Given the description of an element on the screen output the (x, y) to click on. 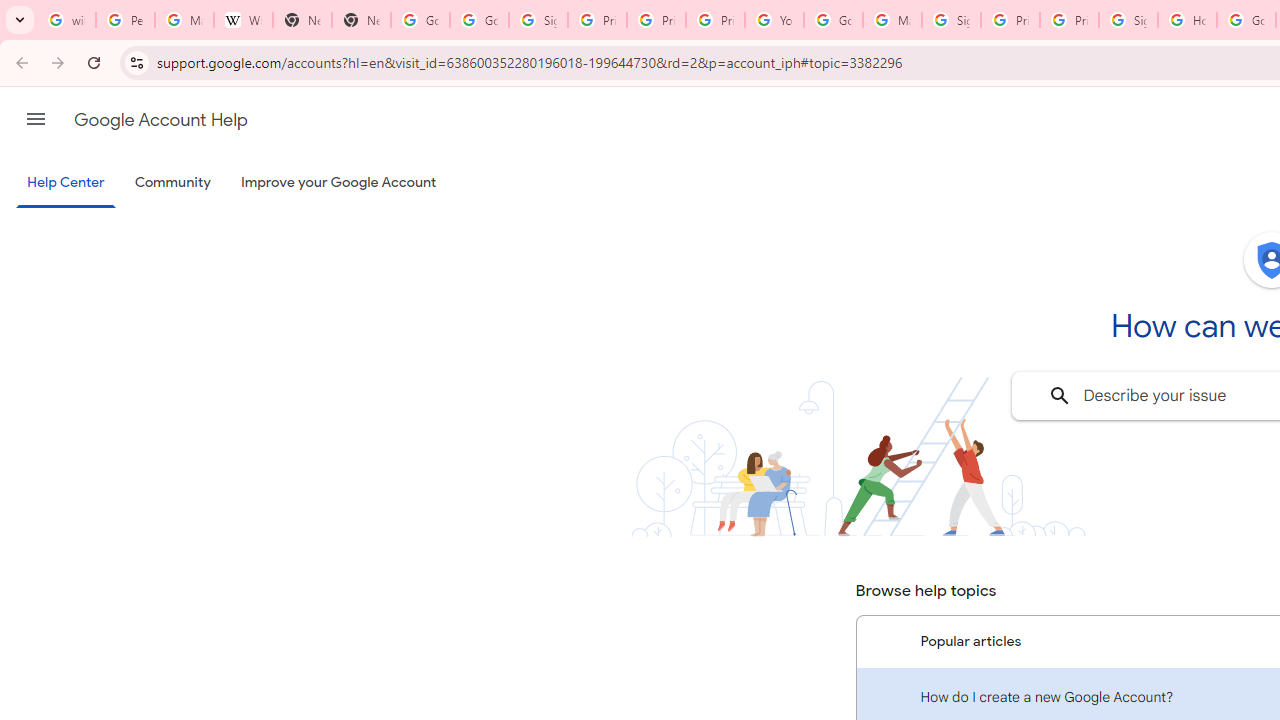
Main menu (35, 119)
Sign in - Google Accounts (1128, 20)
Google Drive: Sign-in (479, 20)
Google Account Help (160, 119)
New Tab (360, 20)
Wikipedia:Edit requests - Wikipedia (242, 20)
Manage your Location History - Google Search Help (183, 20)
Help Center (65, 183)
Community (171, 183)
